Given the description of an element on the screen output the (x, y) to click on. 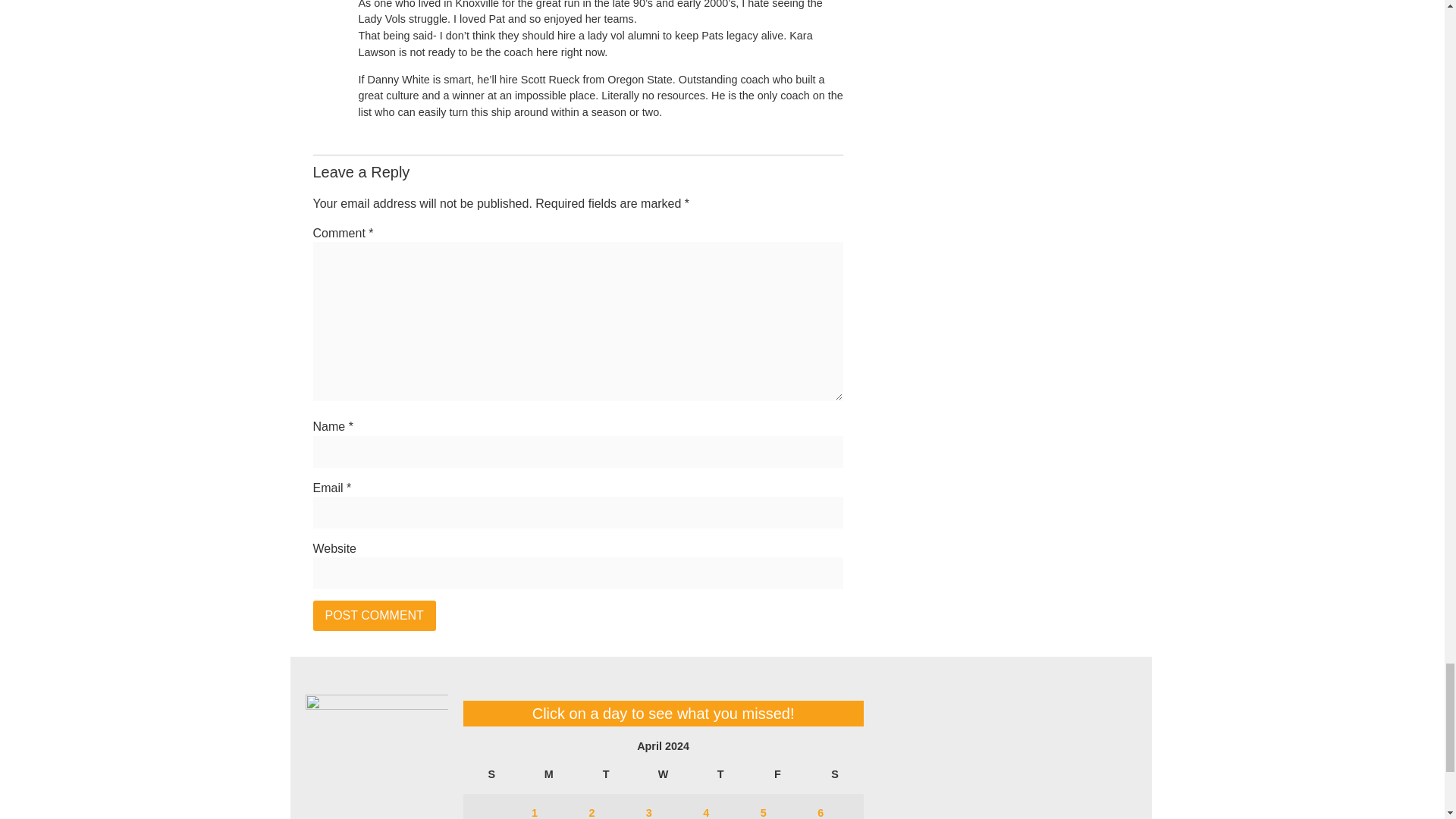
Tuesday (604, 774)
Monday (547, 774)
Wednesday (662, 774)
Friday (777, 774)
Post Comment (374, 615)
Sunday (491, 774)
Thursday (719, 774)
Saturday (834, 774)
